Given the description of an element on the screen output the (x, y) to click on. 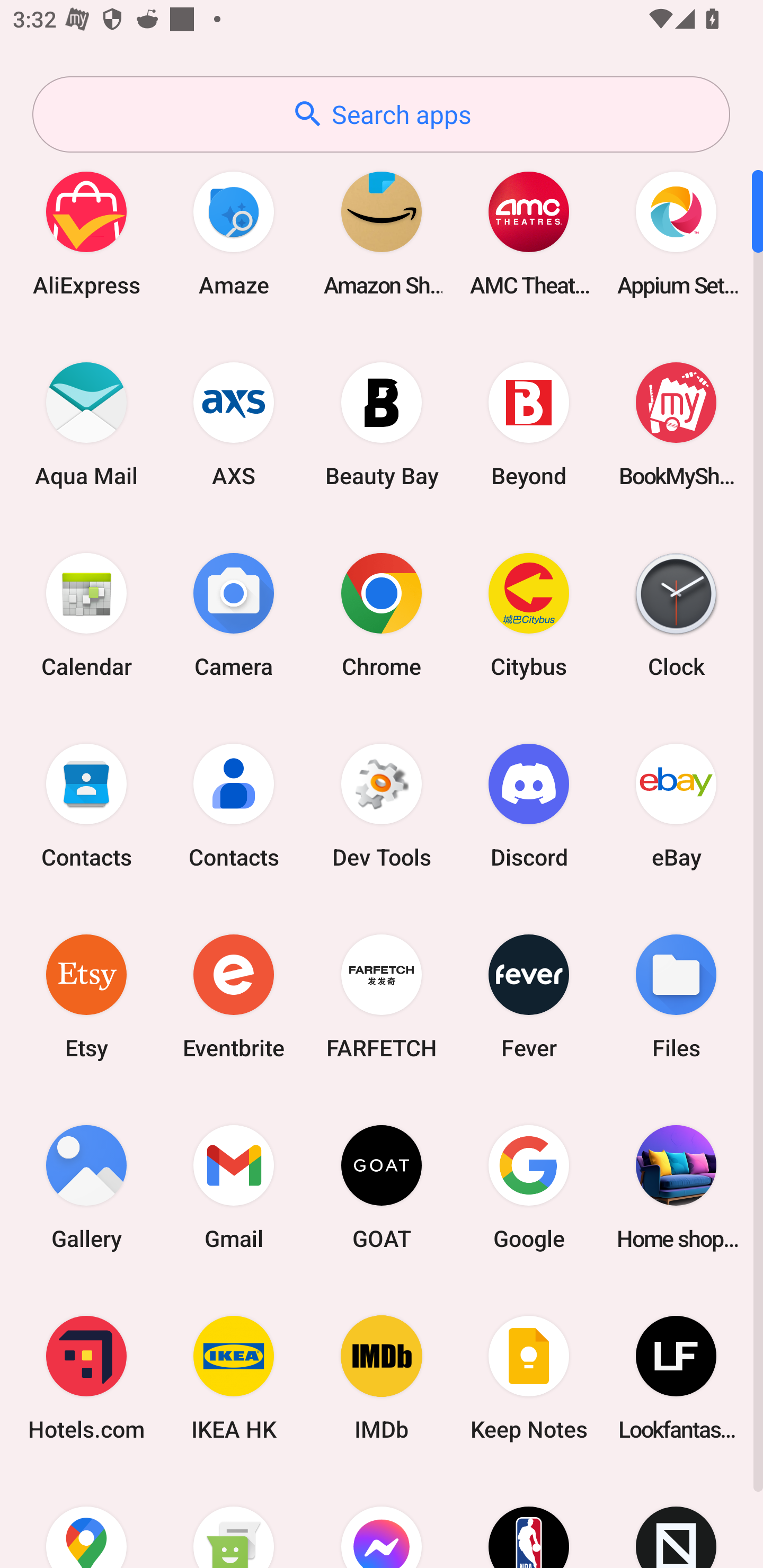
  Search apps (381, 114)
AliExpress (86, 233)
Amaze (233, 233)
Amazon Shopping (381, 233)
AMC Theatres (528, 233)
Appium Settings (676, 233)
Aqua Mail (86, 424)
AXS (233, 424)
Beauty Bay (381, 424)
Beyond (528, 424)
BookMyShow (676, 424)
Calendar (86, 614)
Camera (233, 614)
Chrome (381, 614)
Citybus (528, 614)
Clock (676, 614)
Contacts (86, 805)
Contacts (233, 805)
Dev Tools (381, 805)
Discord (528, 805)
eBay (676, 805)
Etsy (86, 996)
Eventbrite (233, 996)
FARFETCH (381, 996)
Fever (528, 996)
Files (676, 996)
Gallery (86, 1186)
Gmail (233, 1186)
GOAT (381, 1186)
Google (528, 1186)
Home shopping (676, 1186)
Hotels.com (86, 1377)
IKEA HK (233, 1377)
IMDb (381, 1377)
Keep Notes (528, 1377)
Lookfantastic (676, 1377)
Maps (86, 1520)
Messaging (233, 1520)
Messenger (381, 1520)
NBA (528, 1520)
Novelship (676, 1520)
